Given the description of an element on the screen output the (x, y) to click on. 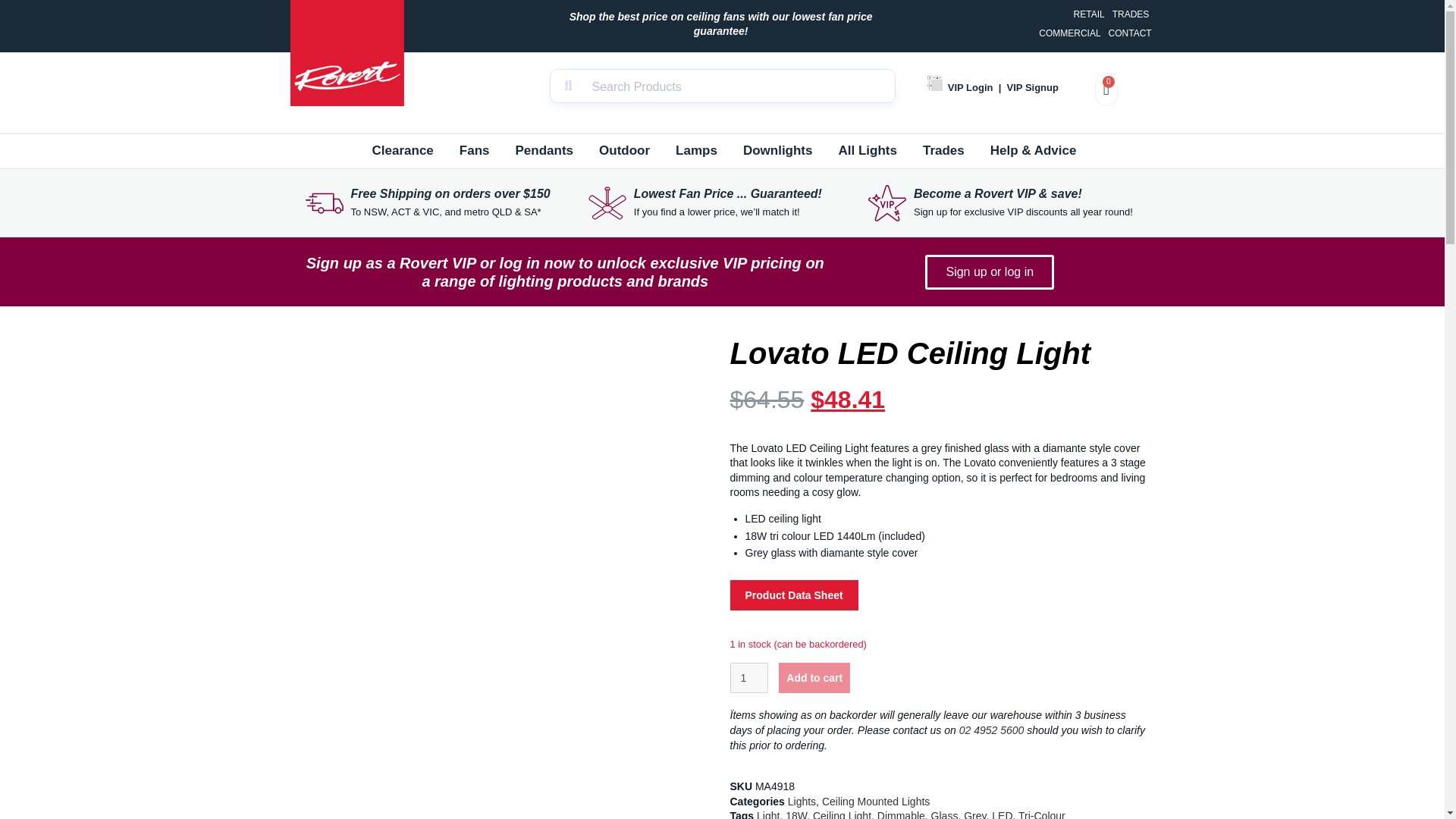
Clearance (402, 150)
VIP Login (969, 87)
Downlights (778, 150)
CONTACT (1129, 32)
Pendants (544, 150)
RETAIL (1089, 14)
COMMERCIAL (1069, 32)
All Lights (868, 150)
TRADES (1131, 14)
1 (748, 677)
Outdoor (624, 150)
Fans (474, 150)
Trades (943, 150)
VIP Signup (1032, 87)
Lamps (696, 150)
